Given the description of an element on the screen output the (x, y) to click on. 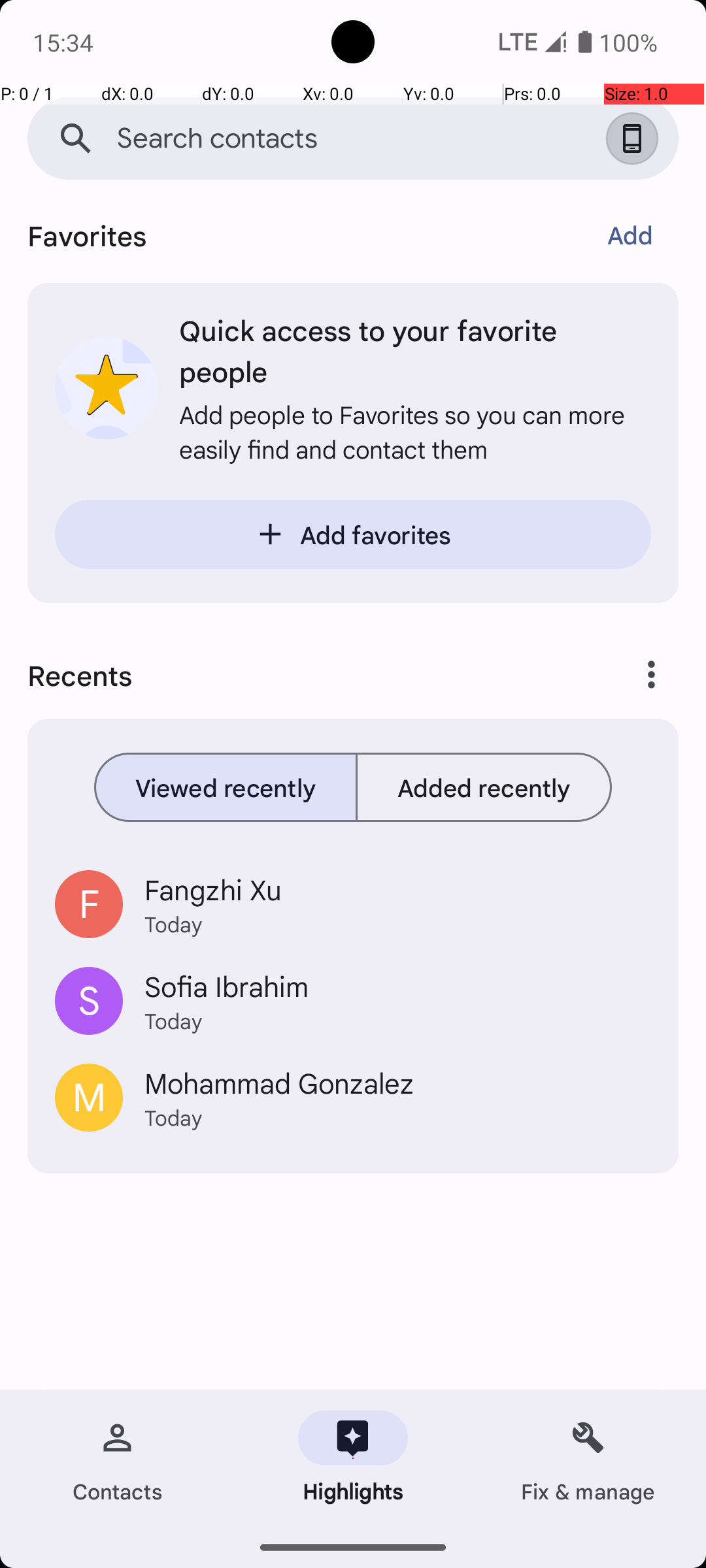
Quick access to your favorite people Element type: android.widget.TextView (415, 350)
Add people to Favorites so you can more easily find and contact them Element type: android.widget.TextView (415, 431)
Add favorites Element type: android.widget.Button (352, 534)
Viewed recently Element type: android.widget.CompoundButton (225, 787)
Added recently Element type: android.widget.CompoundButton (483, 787)
Fangzhi Xu Element type: android.widget.TextView (397, 888)
Sofia Ibrahim Element type: android.widget.TextView (397, 985)
Mohammad Gonzalez Element type: android.widget.TextView (397, 1082)
